Given the description of an element on the screen output the (x, y) to click on. 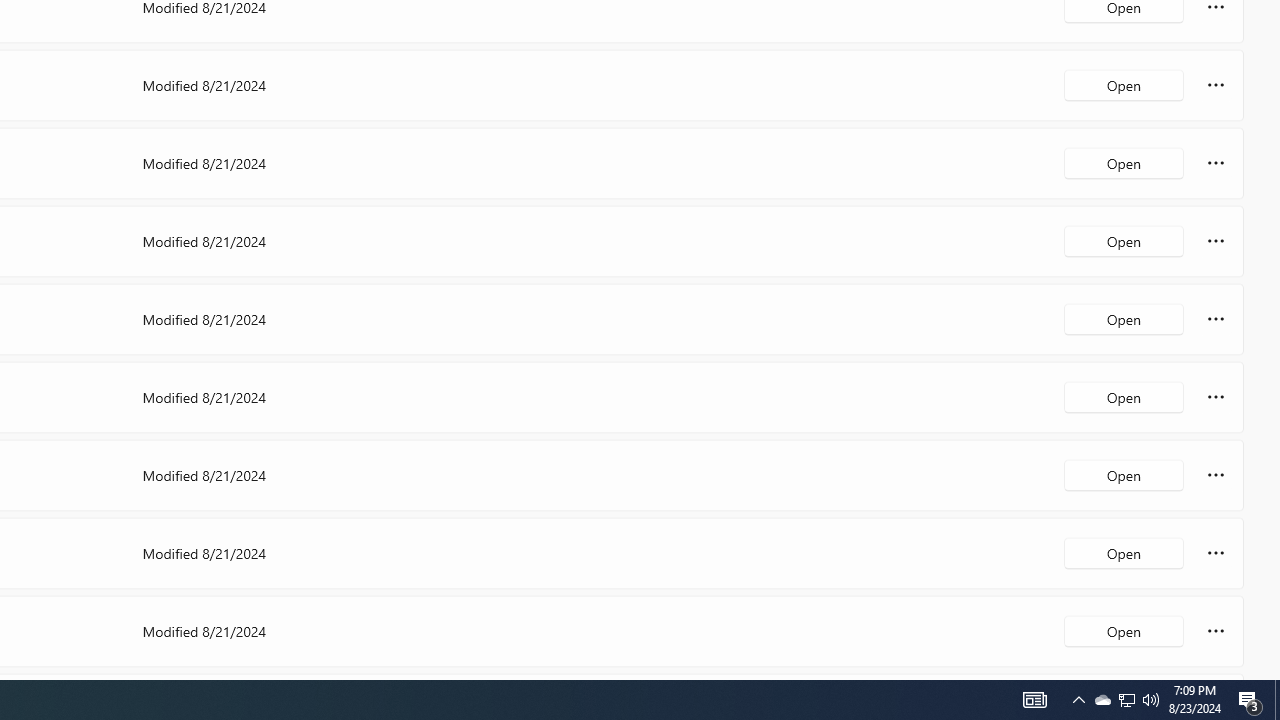
More options (1215, 630)
Open (1123, 630)
